Given the description of an element on the screen output the (x, y) to click on. 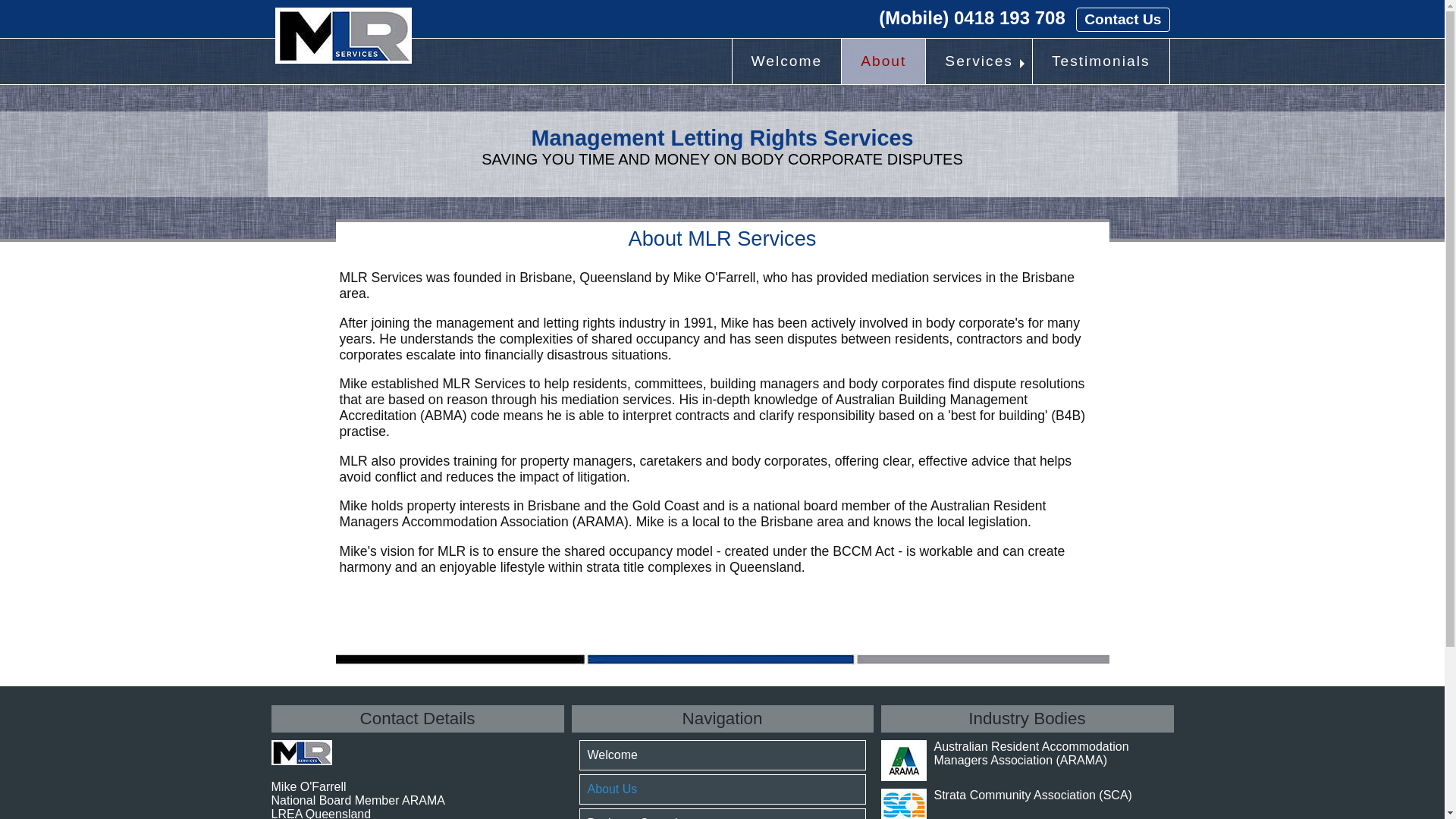
Services Element type: text (978, 61)
Testimonials Element type: text (1100, 61)
About Element type: text (883, 61)
Welcome Element type: text (722, 755)
Strata Community Association (SCA) Element type: text (1033, 794)
MLRS Logo Element type: text (342, 35)
About Us Element type: text (722, 789)
(Mobile) 0418 193 708 Element type: text (971, 17)
Welcome Element type: text (786, 61)
Contact Us Element type: text (1122, 19)
